Given the description of an element on the screen output the (x, y) to click on. 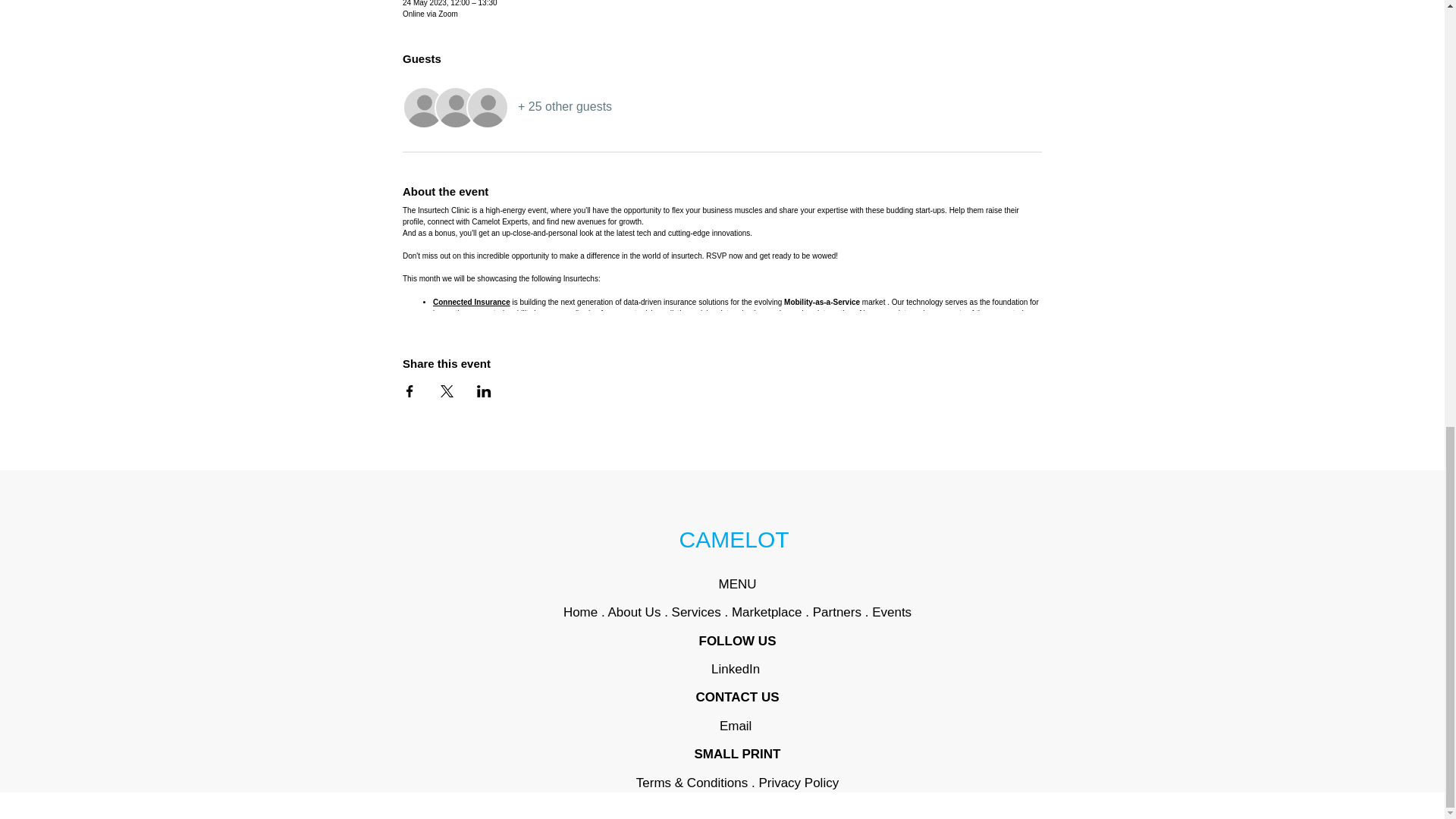
Partners (836, 612)
About Us (634, 612)
Events (891, 612)
Marketplace (767, 612)
LinkedIn (735, 668)
Email  (737, 726)
Services (695, 612)
Home (582, 612)
